Given the description of an element on the screen output the (x, y) to click on. 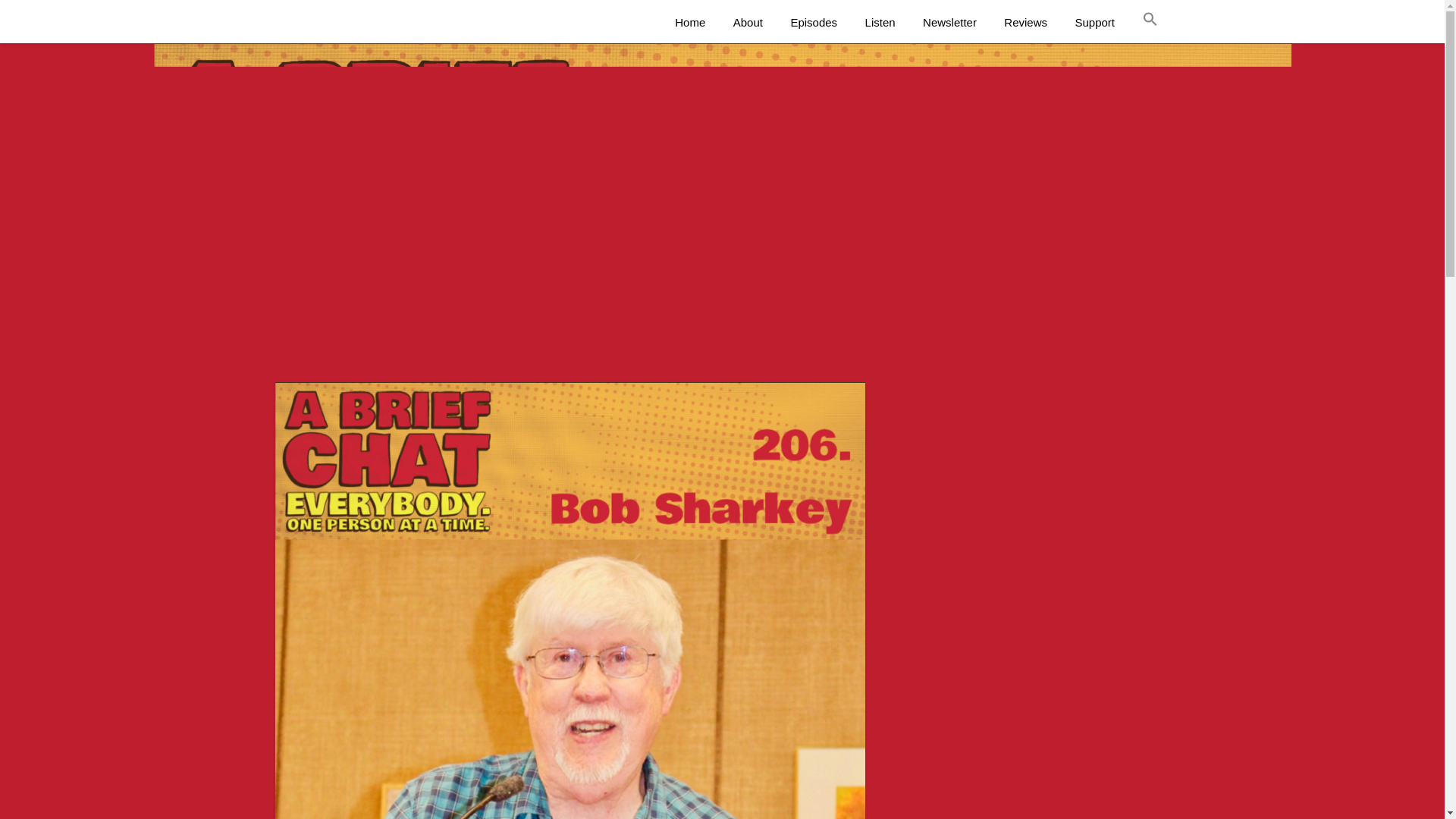
About (747, 22)
Listen (880, 22)
Support (1094, 22)
Episodes (812, 22)
Newsletter (949, 22)
Reviews (1025, 22)
Home (696, 22)
